Given the description of an element on the screen output the (x, y) to click on. 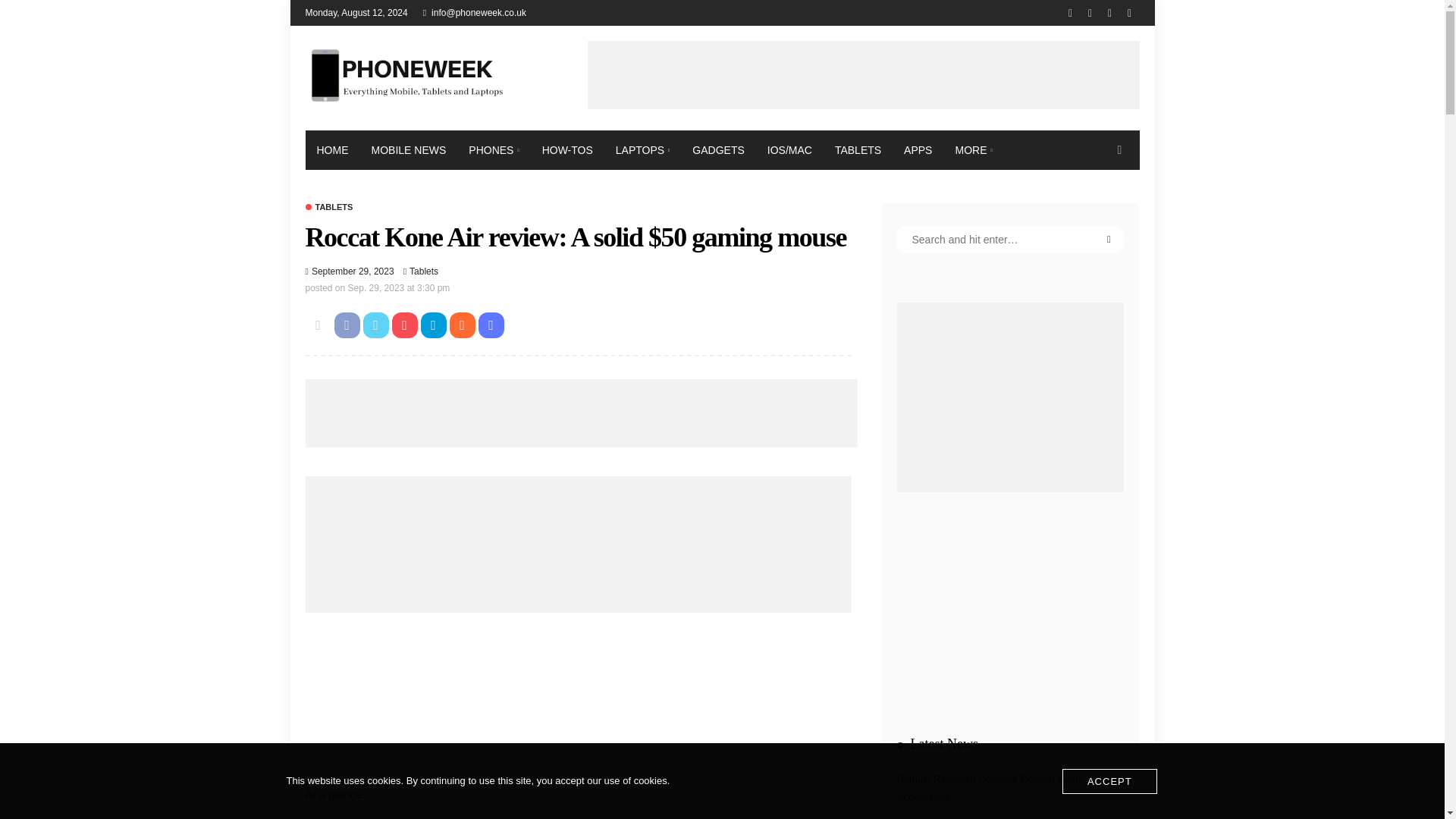
search (1118, 149)
Tablets (423, 271)
Advertisement (862, 74)
Advertisement (577, 696)
Tablets (423, 271)
LAPTOPS (642, 149)
Advertisement (580, 413)
TABLETS (328, 207)
PHONES (493, 149)
APPS (917, 149)
